Given the description of an element on the screen output the (x, y) to click on. 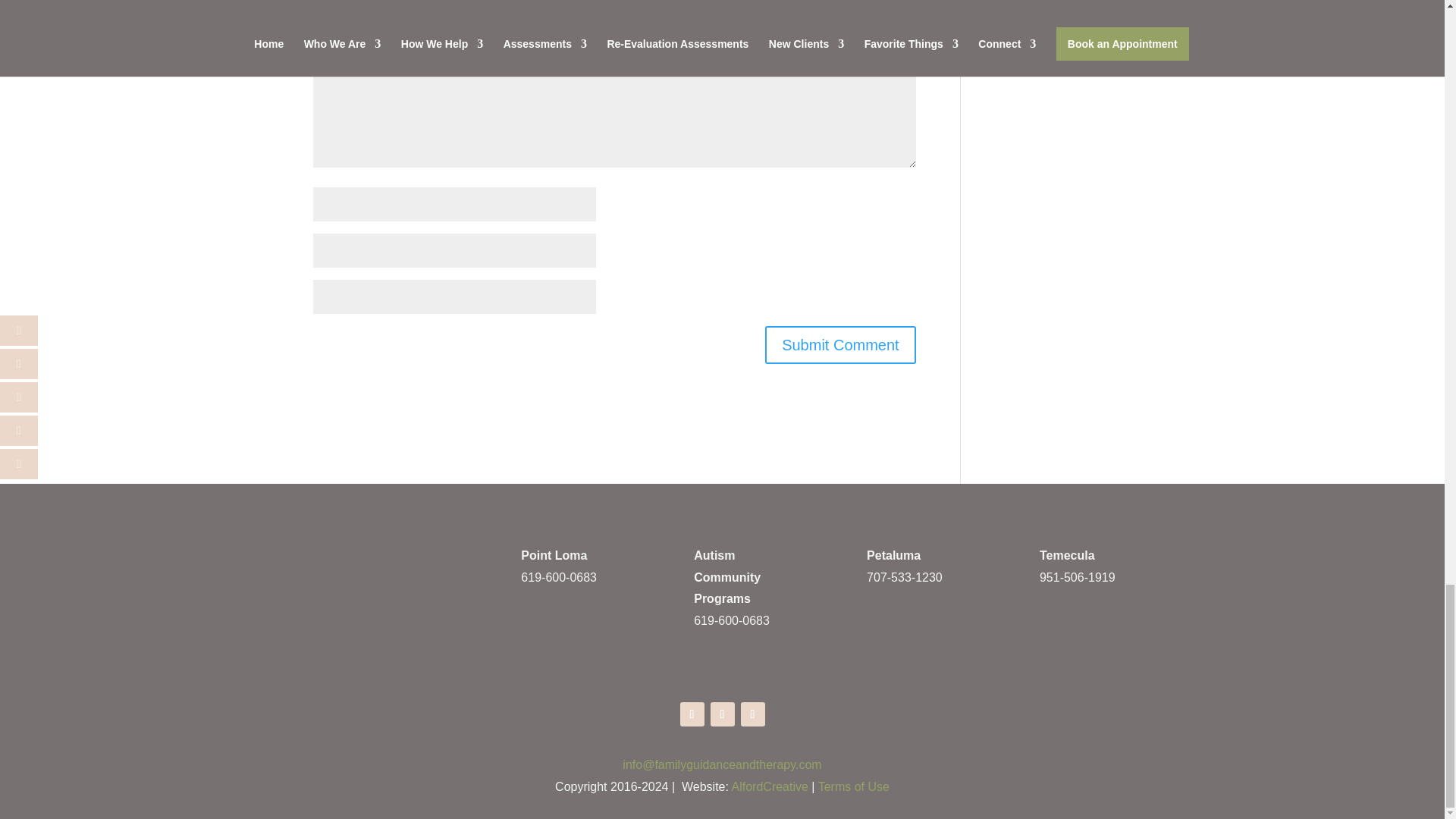
Follow on Twitter (721, 713)
Follow on Facebook (691, 713)
Submit Comment (840, 344)
Follow on Instagram (751, 713)
